Given the description of an element on the screen output the (x, y) to click on. 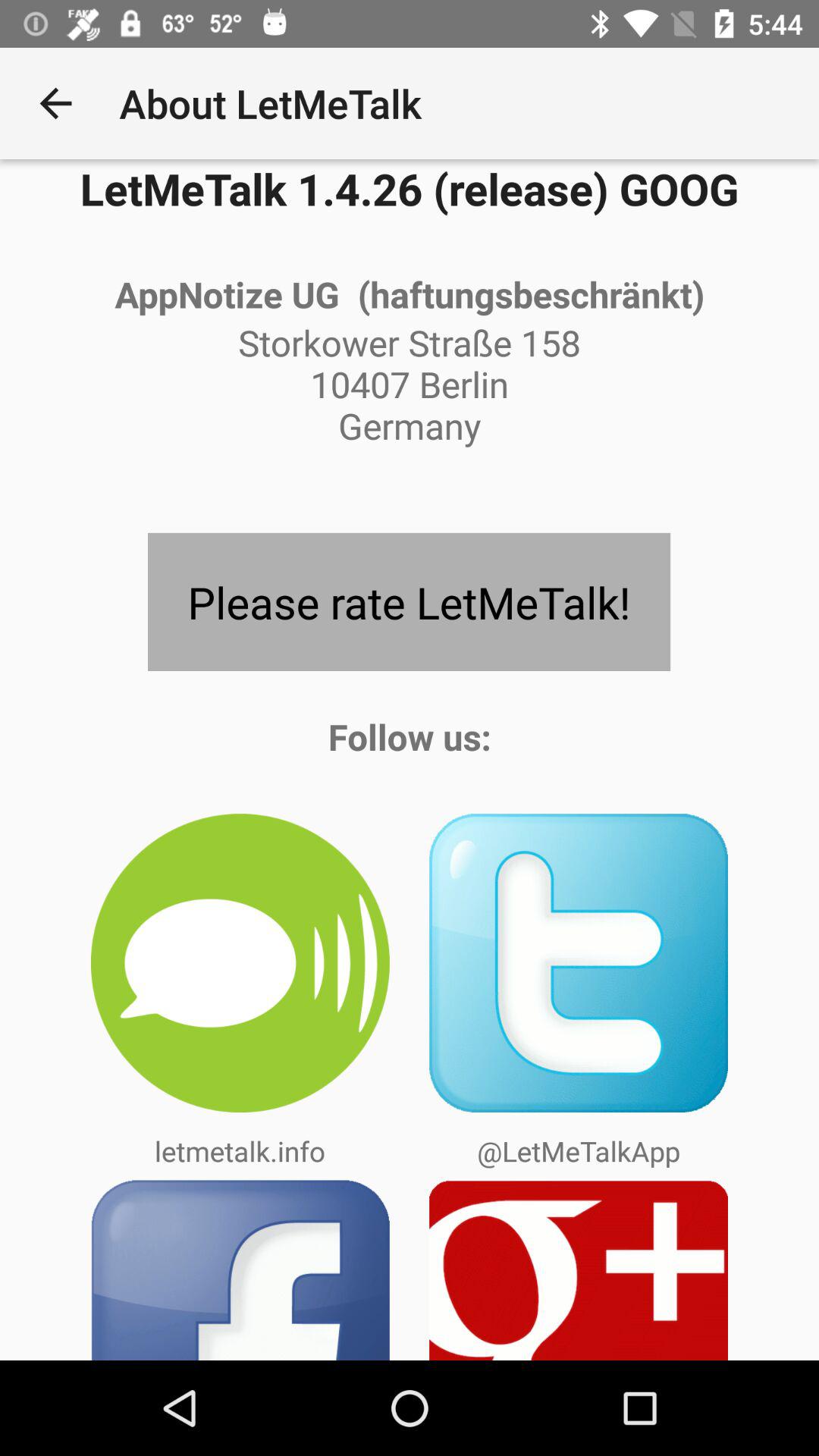
follow on google plus (578, 1269)
